Given the description of an element on the screen output the (x, y) to click on. 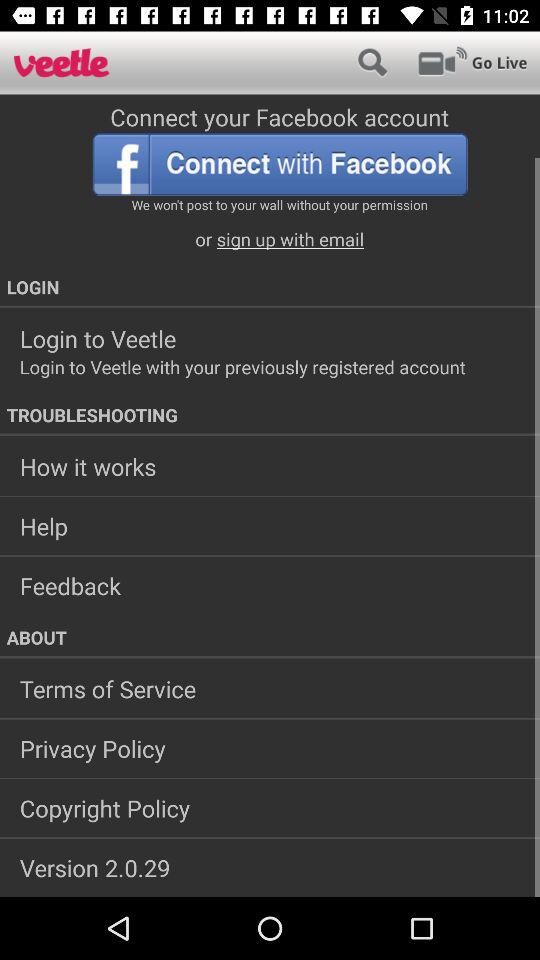
scroll until the about item (270, 637)
